Given the description of an element on the screen output the (x, y) to click on. 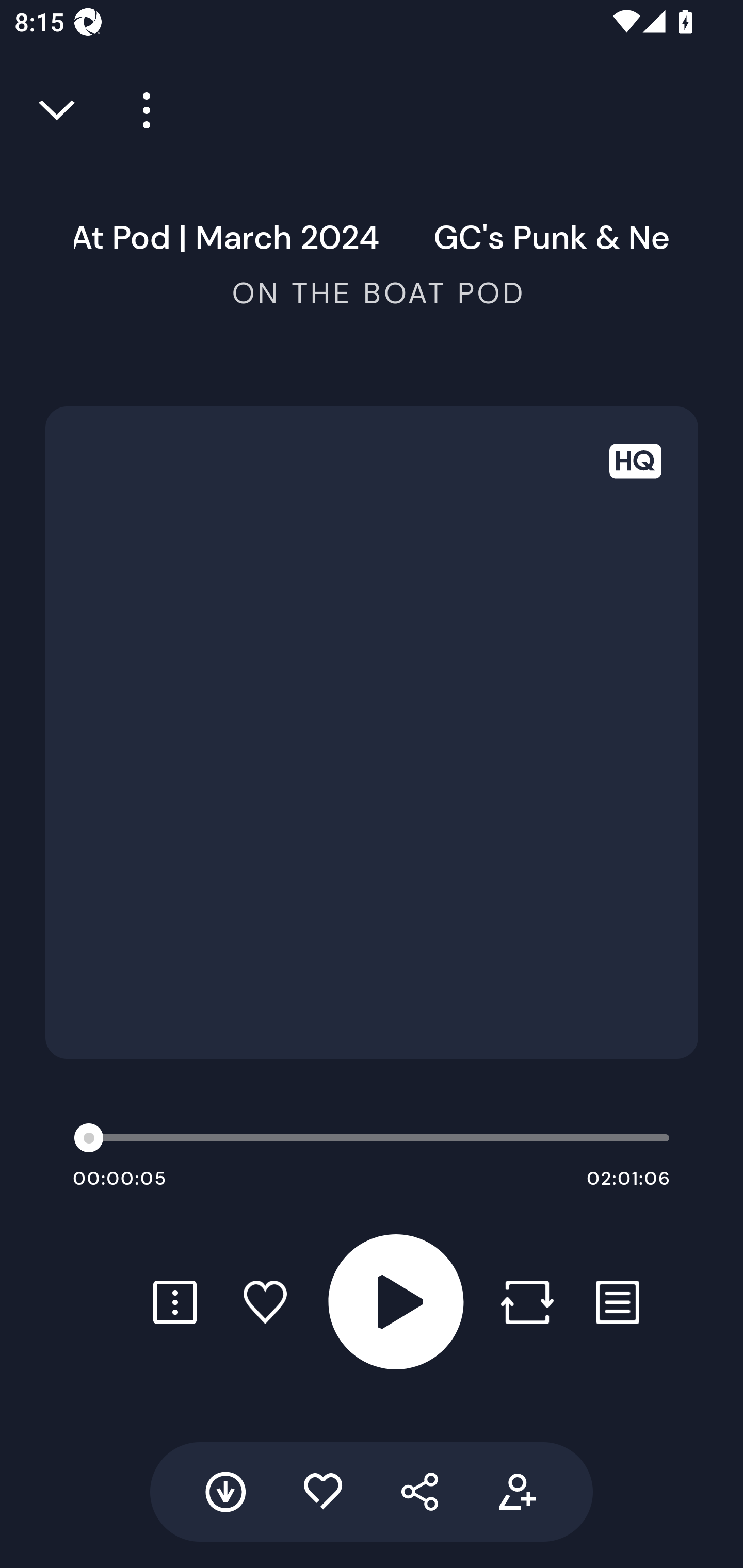
Close full player (58, 110)
Player more options button (139, 110)
Repost button (527, 1301)
